Given the description of an element on the screen output the (x, y) to click on. 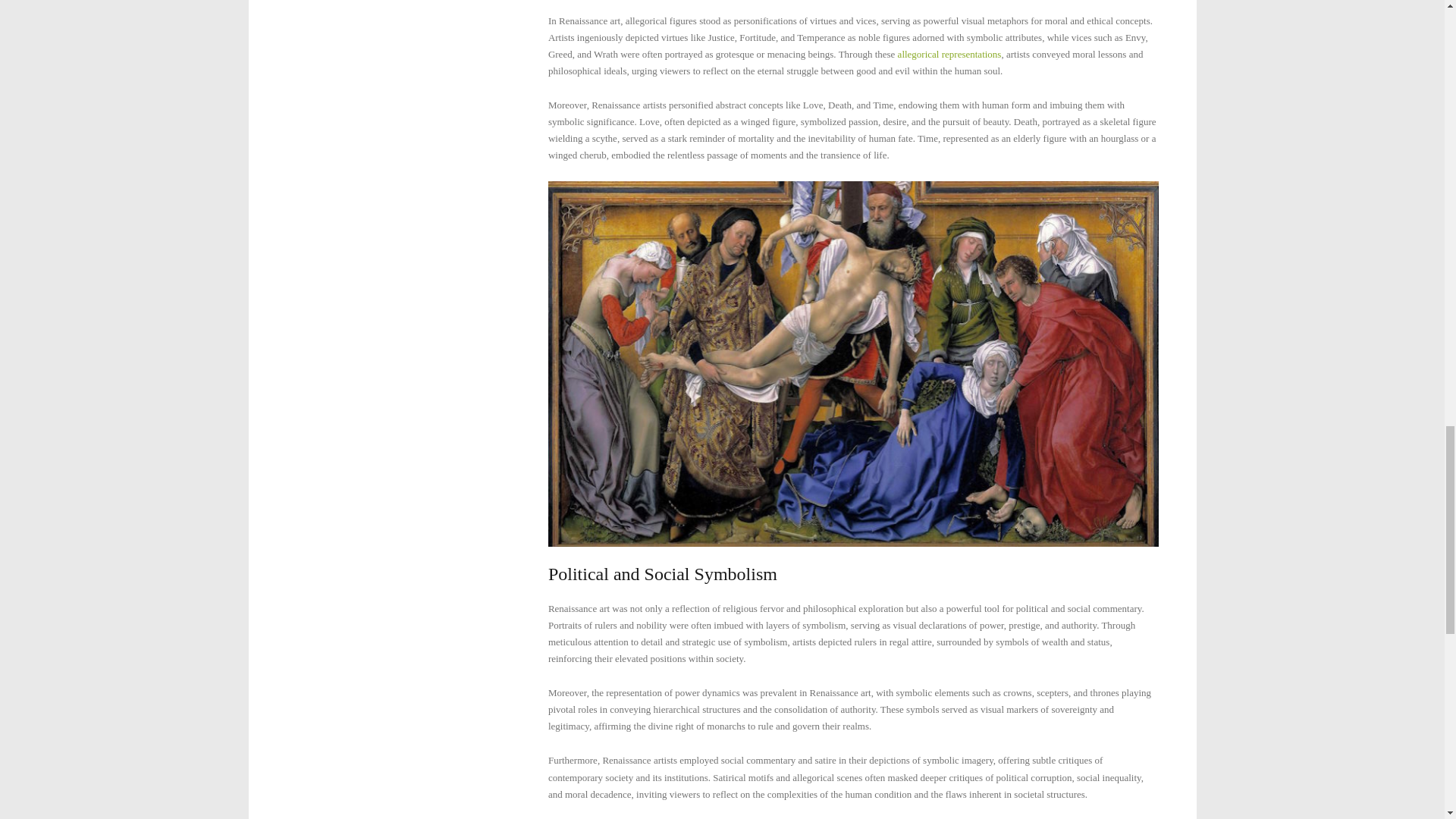
allegorical representations (949, 53)
allegorical representations (949, 53)
